Given the description of an element on the screen output the (x, y) to click on. 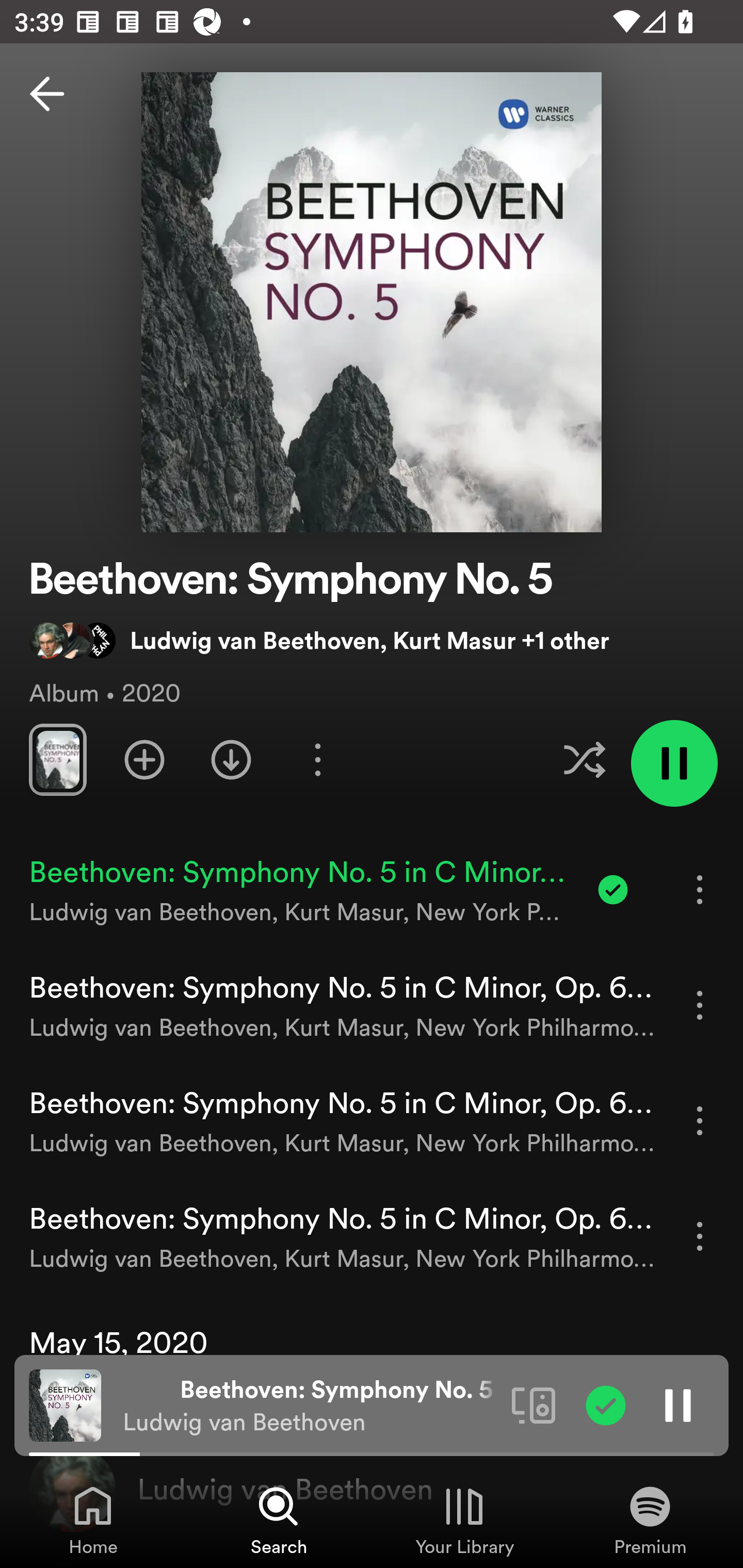
Back (46, 93)
Ludwig van Beethoven, Kurt Masur +1 other (319, 640)
Swipe through previews of tracks from this album. (57, 759)
Add playlist to Your Library (144, 759)
Download (230, 759)
Enable shuffle for this playlist (583, 759)
Pause playlist (674, 763)
Item added (612, 889)
The cover art of the currently playing track (64, 1404)
Connect to a device. Opens the devices menu (533, 1404)
Item added (605, 1404)
Pause (677, 1404)
Home, Tab 1 of 4 Home Home (92, 1519)
Search, Tab 2 of 4 Search Search (278, 1519)
Your Library, Tab 3 of 4 Your Library Your Library (464, 1519)
Premium, Tab 4 of 4 Premium Premium (650, 1519)
